Given the description of an element on the screen output the (x, y) to click on. 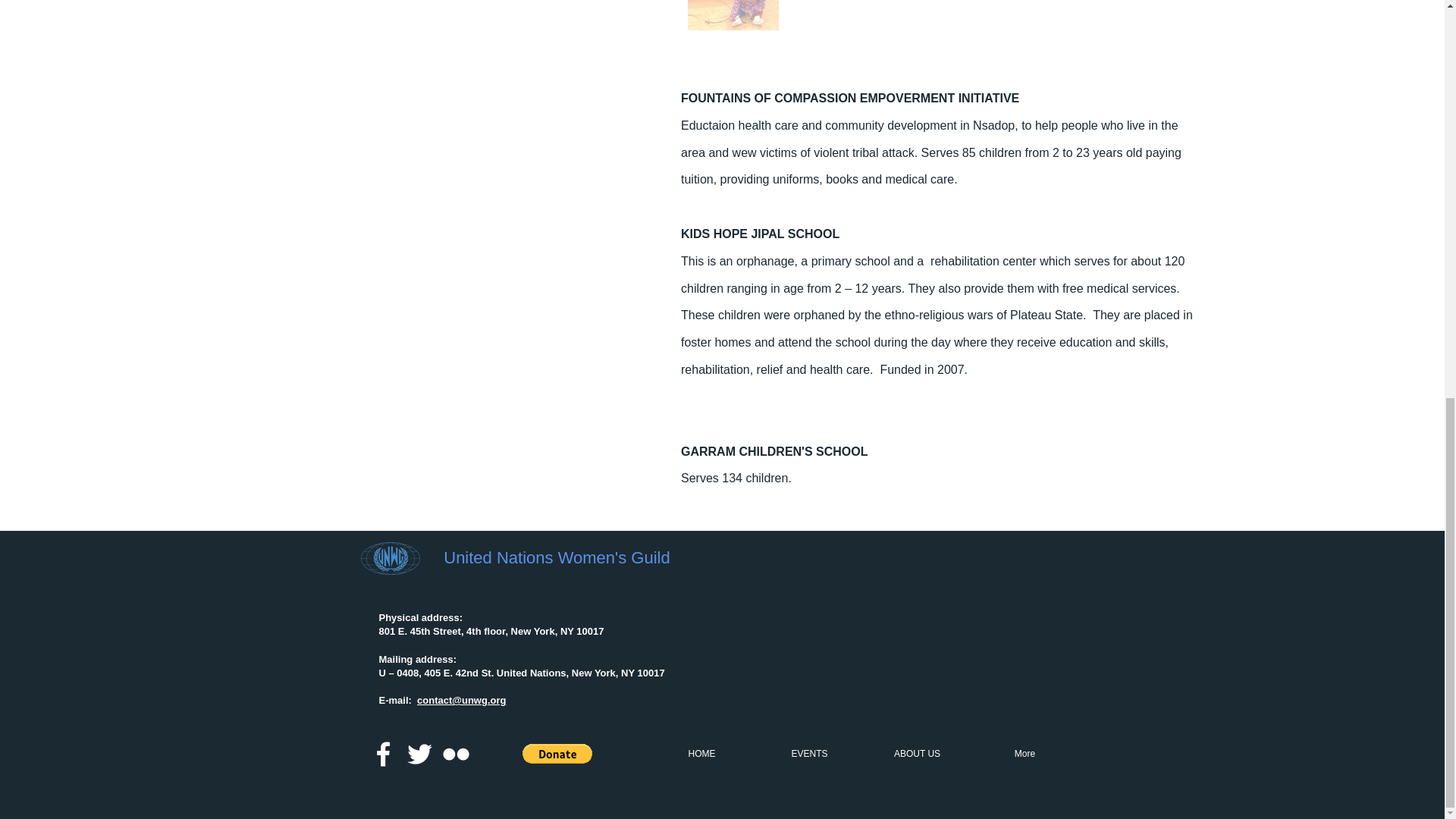
United Nations Women's Guild (556, 557)
HOME (701, 754)
ABOUT US (917, 754)
EVENTS (809, 754)
